Given the description of an element on the screen output the (x, y) to click on. 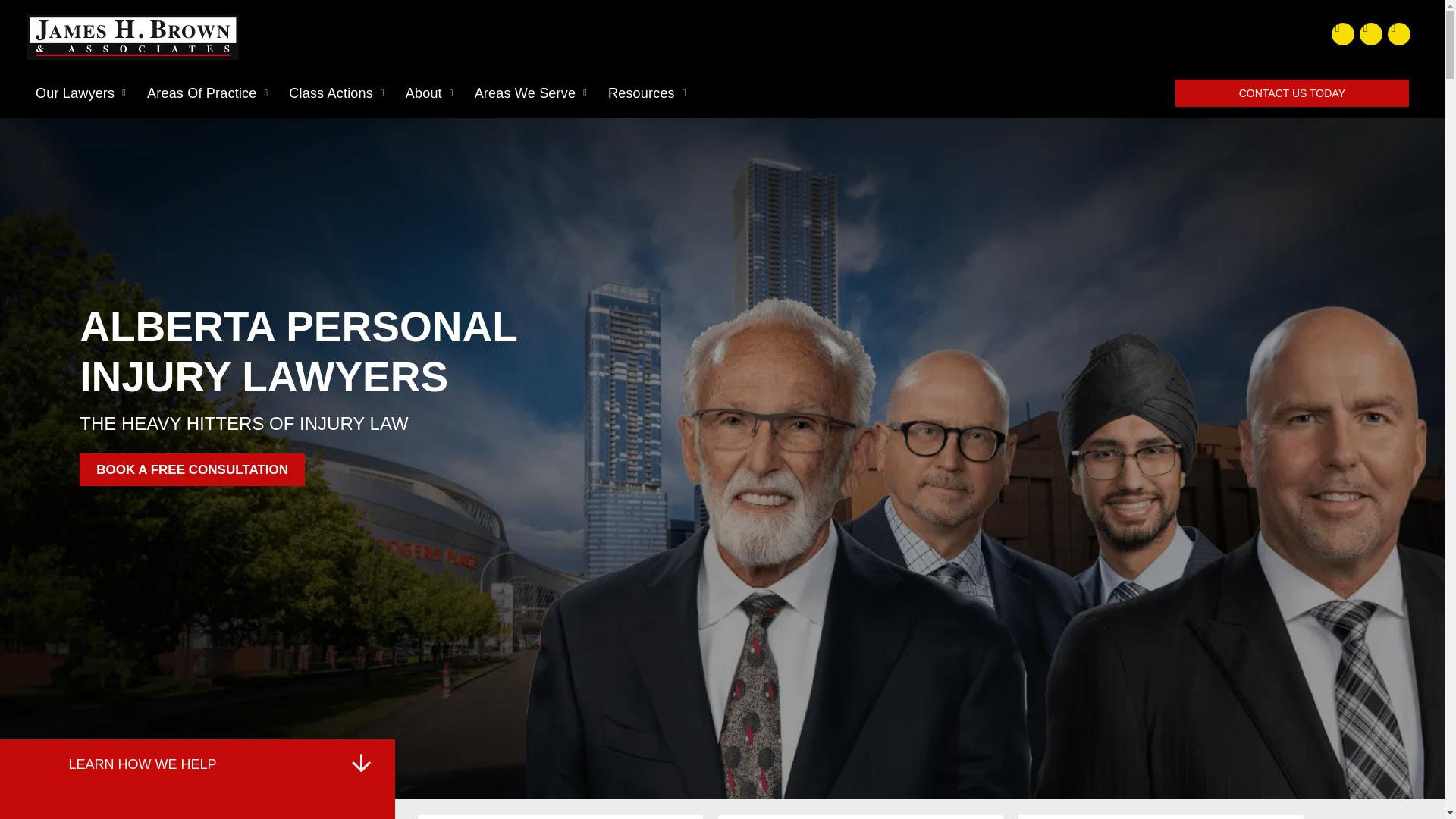
Class Actions (336, 92)
Home 2 (361, 762)
Areas Of Practice (207, 92)
Our Lawyers (80, 92)
